Given the description of an element on the screen output the (x, y) to click on. 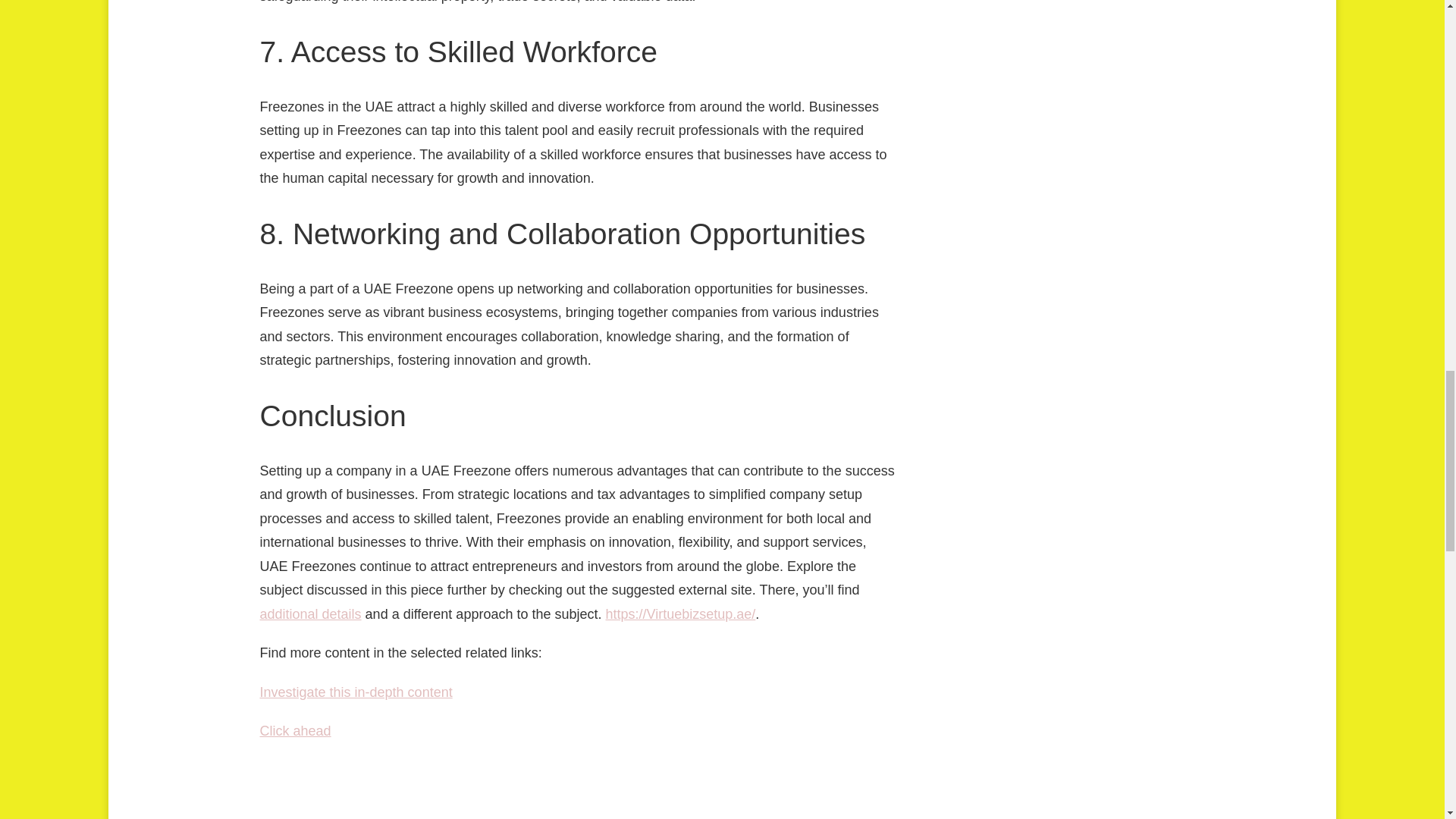
Investigate this in-depth content (355, 692)
additional details (310, 613)
Click ahead (294, 730)
